Given the description of an element on the screen output the (x, y) to click on. 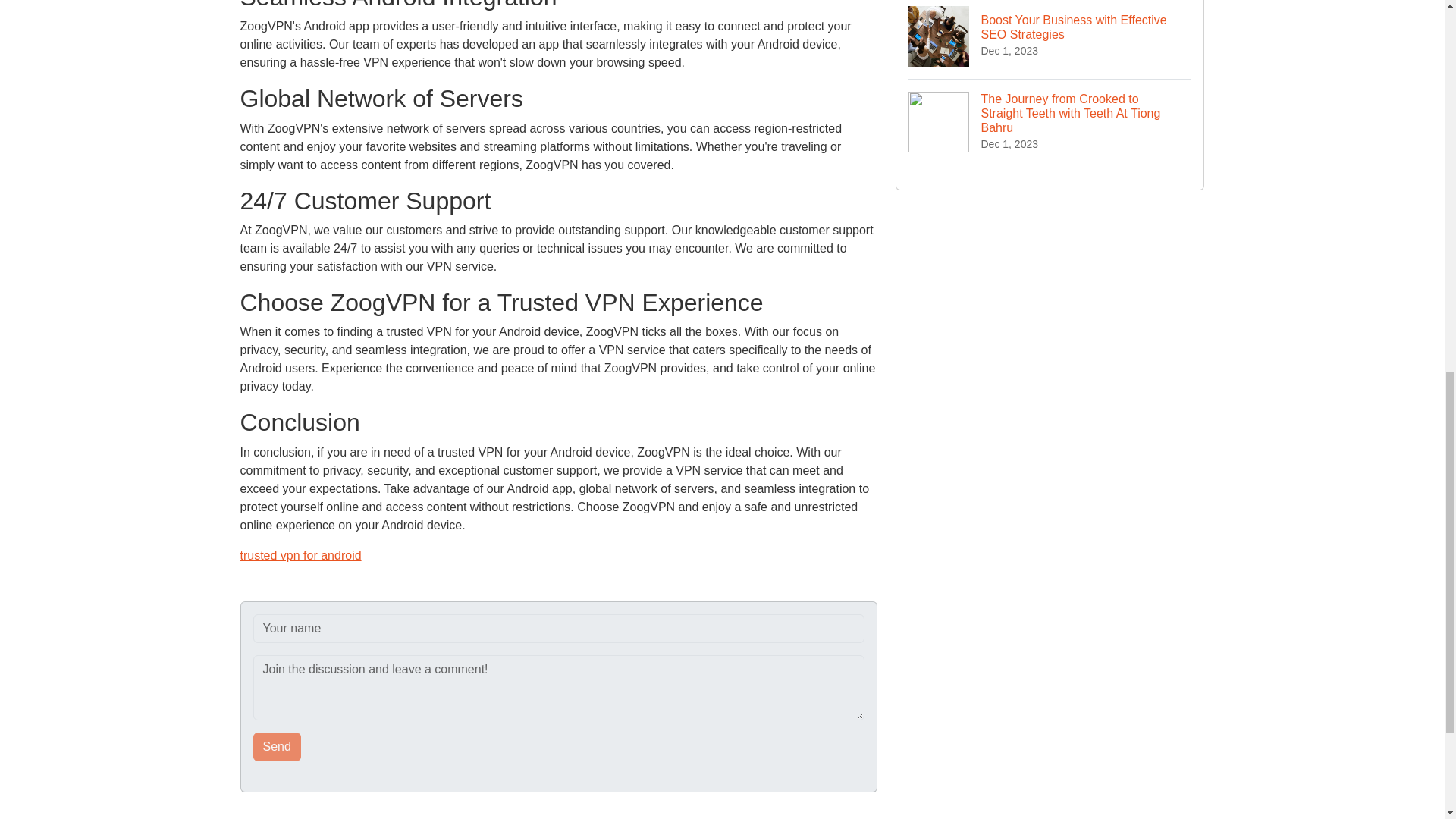
Send (277, 746)
Send (277, 746)
trusted vpn for android (300, 554)
